Given the description of an element on the screen output the (x, y) to click on. 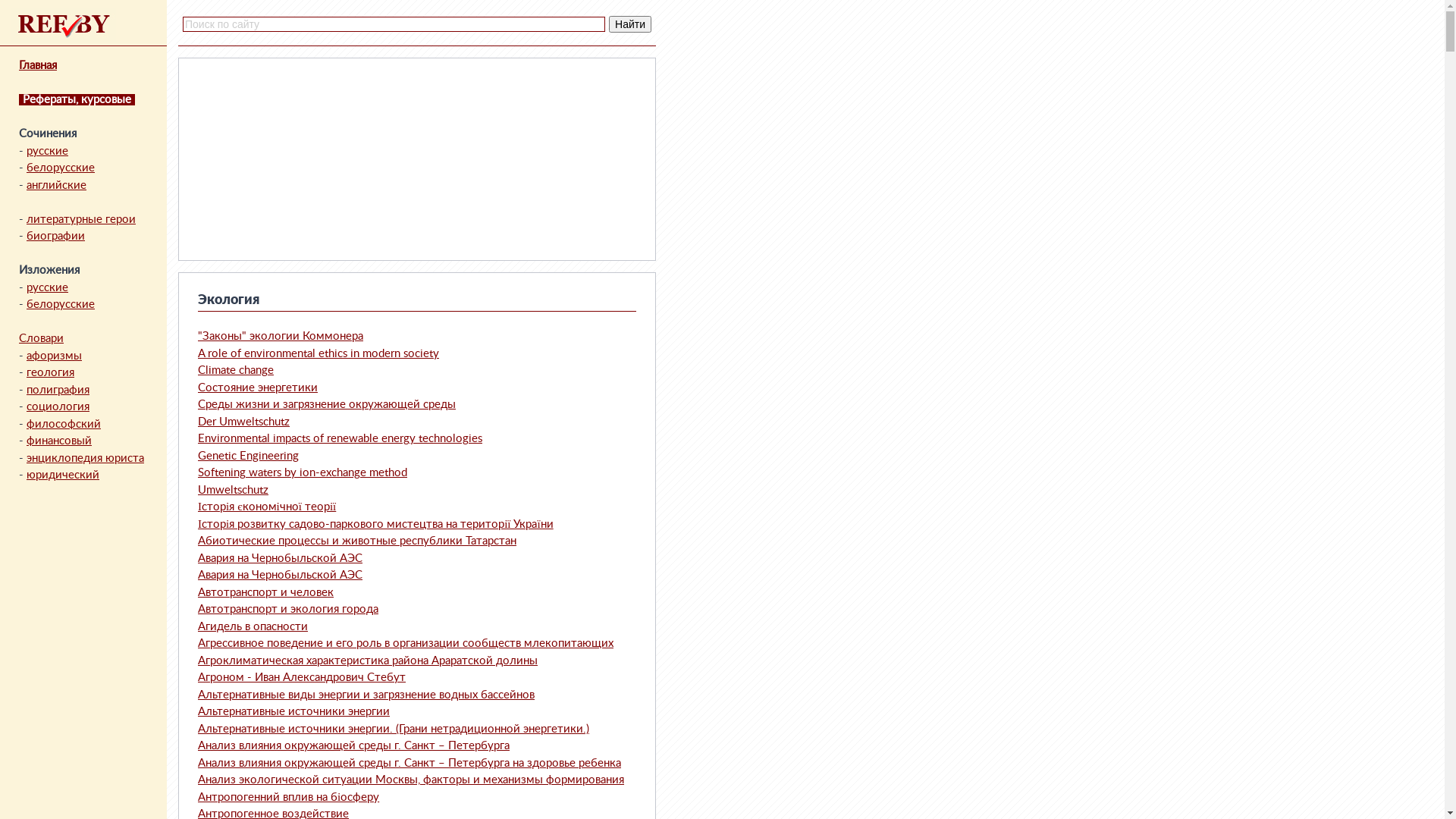
Genetic Engineering Element type: text (247, 455)
Advertisement Element type: hover (535, 159)
Advertisement Element type: hover (298, 159)
Softening waters by ion-exchange method Element type: text (302, 472)
Environmental impacts of renewable energy technologies Element type: text (339, 438)
A role of environmental ethics in modern society Element type: text (318, 352)
Climate change Element type: text (235, 370)
Umweltschutz Element type: text (232, 489)
Der Umweltschutz Element type: text (243, 420)
